Given the description of an element on the screen output the (x, y) to click on. 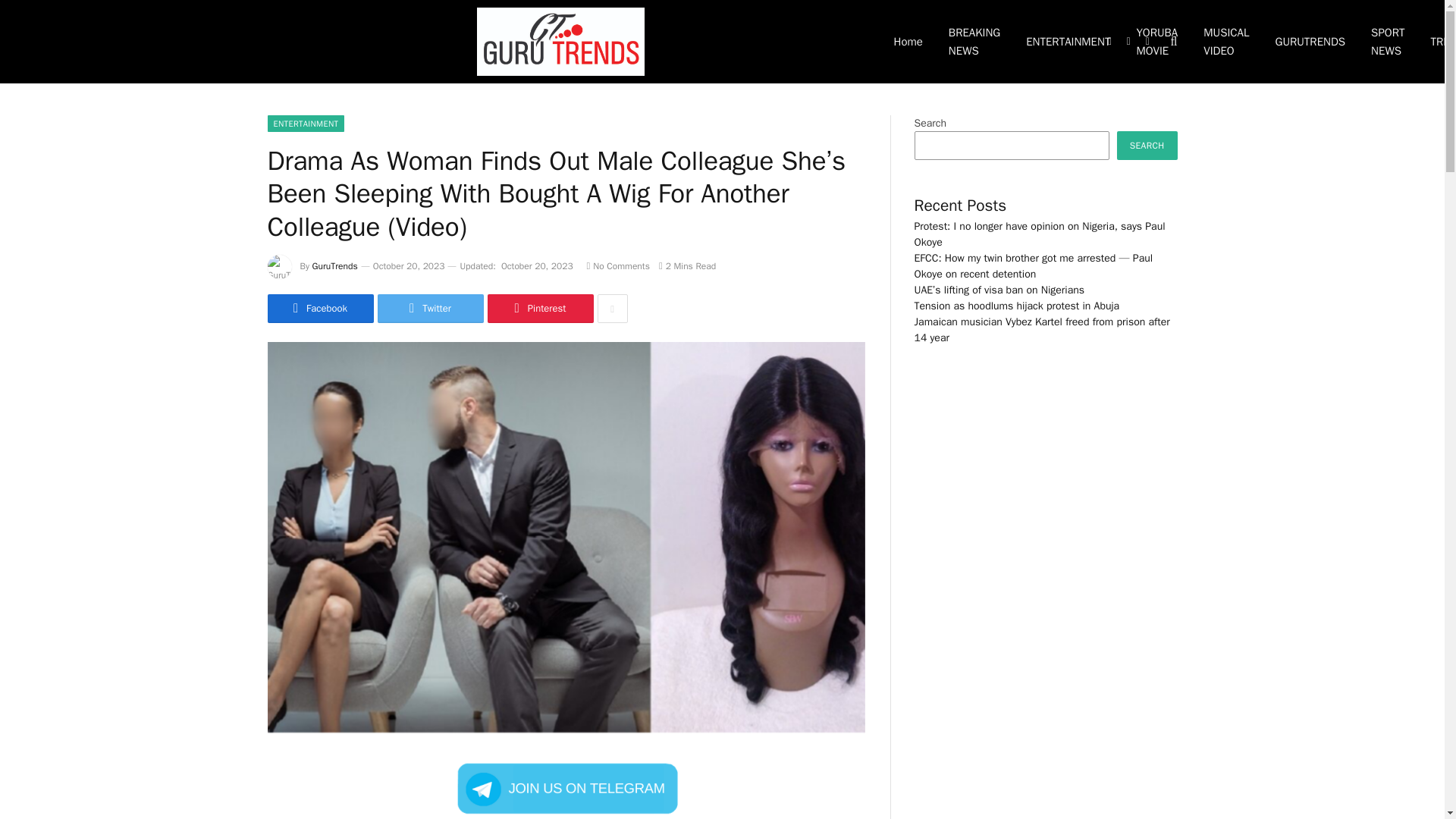
GuruTrends (559, 41)
ENTERTAINMENT (304, 123)
Show More Social Sharing (611, 308)
BREAKING NEWS (974, 41)
Share on Twitter (430, 308)
Facebook (319, 308)
GuruTrends (335, 265)
Posts by GuruTrends (335, 265)
No Comments (617, 265)
ENTERTAINMENT (1067, 41)
